Given the description of an element on the screen output the (x, y) to click on. 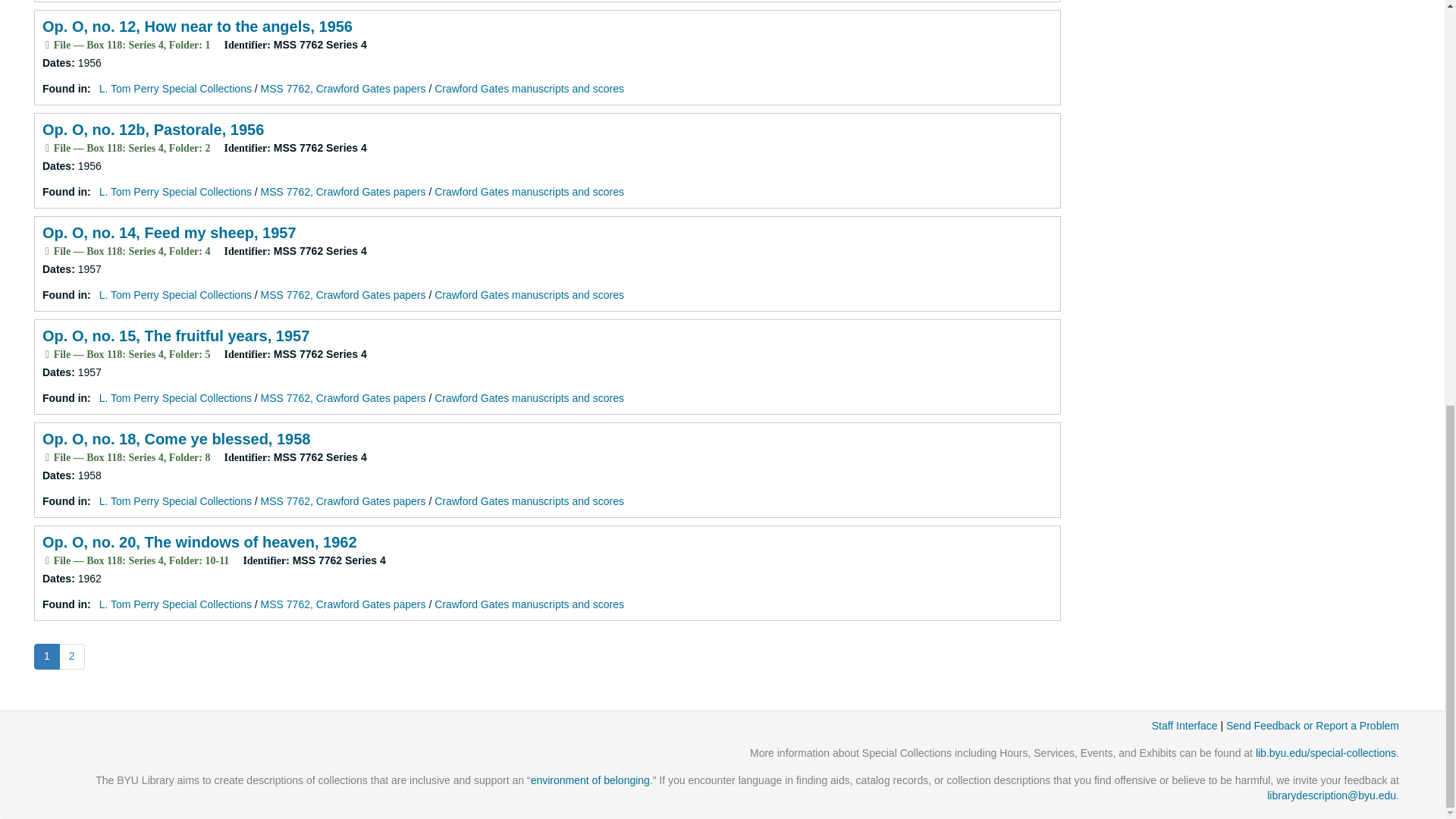
Op. O, no. 12b, Pastorale, 1956 (152, 129)
MSS 7762, Crawford Gates papers (343, 295)
translation missing: en.dates (56, 372)
Op. O, no. 12, How near to the angels, 1956 (197, 26)
Crawford Gates manuscripts and scores (528, 88)
MSS 7762, Crawford Gates papers (343, 88)
translation missing: en.dates (56, 62)
L. Tom Perry Special Collections (175, 191)
Op. O, no. 15, The fruitful years, 1957 (175, 335)
translation missing: en.dates (56, 578)
